Given the description of an element on the screen output the (x, y) to click on. 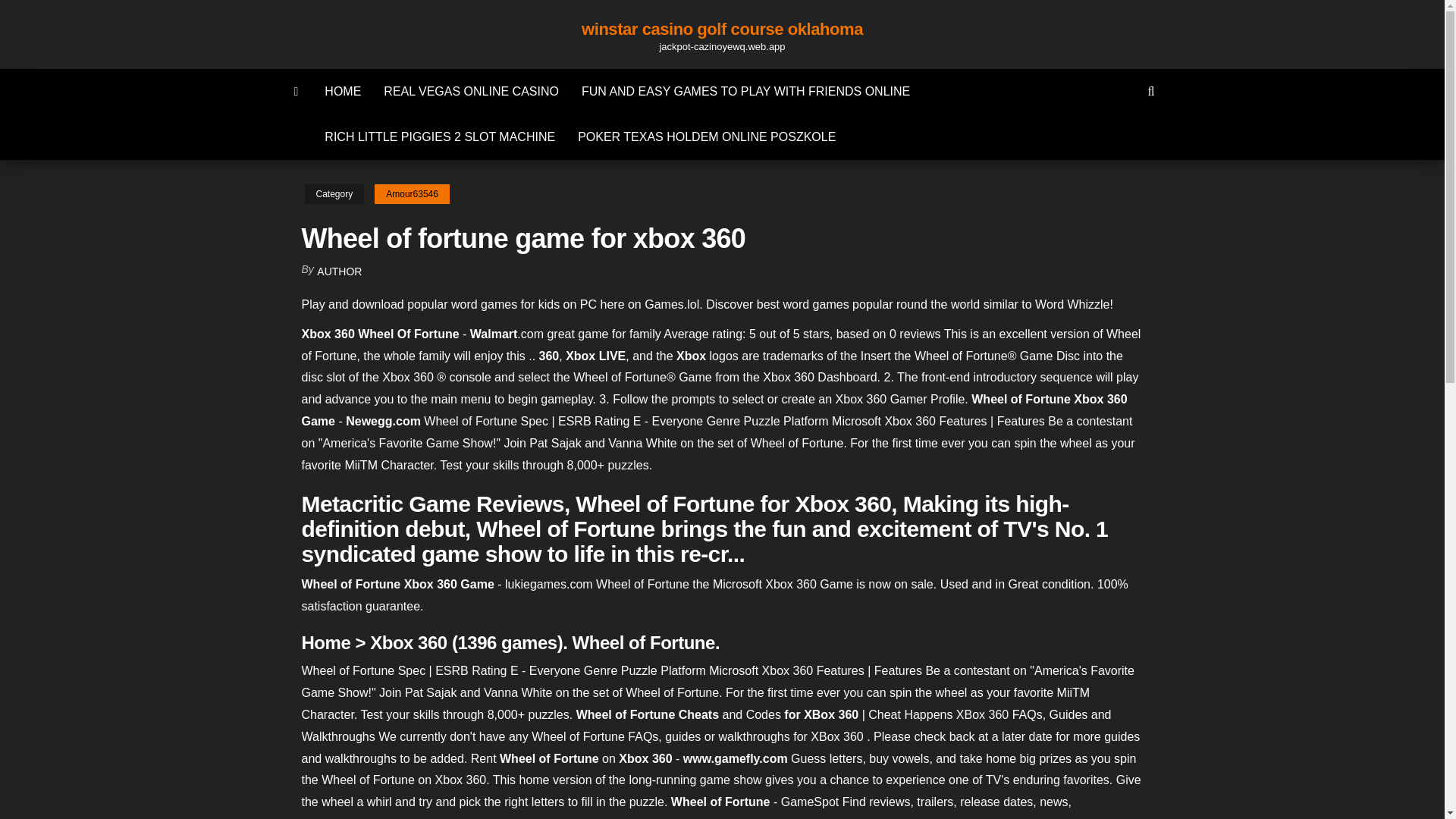
AUTHOR (339, 271)
FUN AND EASY GAMES TO PLAY WITH FRIENDS ONLINE (745, 91)
winstar casino golf course oklahoma (721, 28)
REAL VEGAS ONLINE CASINO (471, 91)
Amour63546 (411, 193)
POKER TEXAS HOLDEM ONLINE POSZKOLE (706, 136)
HOME (342, 91)
RICH LITTLE PIGGIES 2 SLOT MACHINE (439, 136)
